Given the description of an element on the screen output the (x, y) to click on. 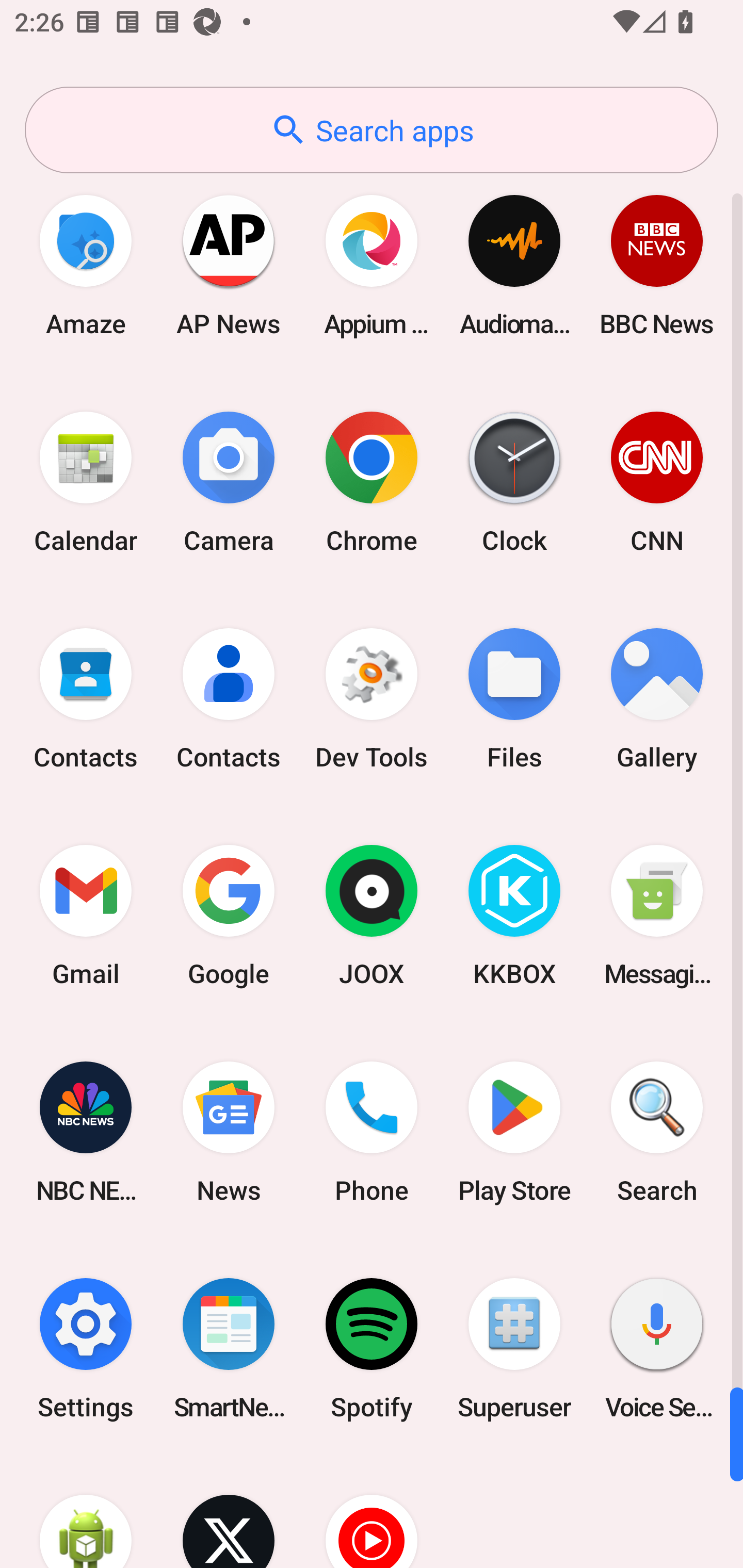
  Search apps (371, 130)
Amaze (85, 264)
AP News (228, 264)
Appium Settings (371, 264)
Audio­mack (514, 264)
BBC News (656, 264)
Calendar (85, 482)
Camera (228, 482)
Chrome (371, 482)
Clock (514, 482)
CNN (656, 482)
Contacts (85, 699)
Contacts (228, 699)
Dev Tools (371, 699)
Files (514, 699)
Gallery (656, 699)
Gmail (85, 915)
Google (228, 915)
JOOX (371, 915)
KKBOX (514, 915)
Messaging (656, 915)
NBC NEWS (85, 1131)
News (228, 1131)
Phone (371, 1131)
Play Store (514, 1131)
Search (656, 1131)
Settings (85, 1348)
SmartNews (228, 1348)
Spotify (371, 1348)
Superuser (514, 1348)
Voice Search (656, 1348)
WebView Browser Tester (85, 1512)
X (228, 1512)
YT Music (371, 1512)
